Given the description of an element on the screen output the (x, y) to click on. 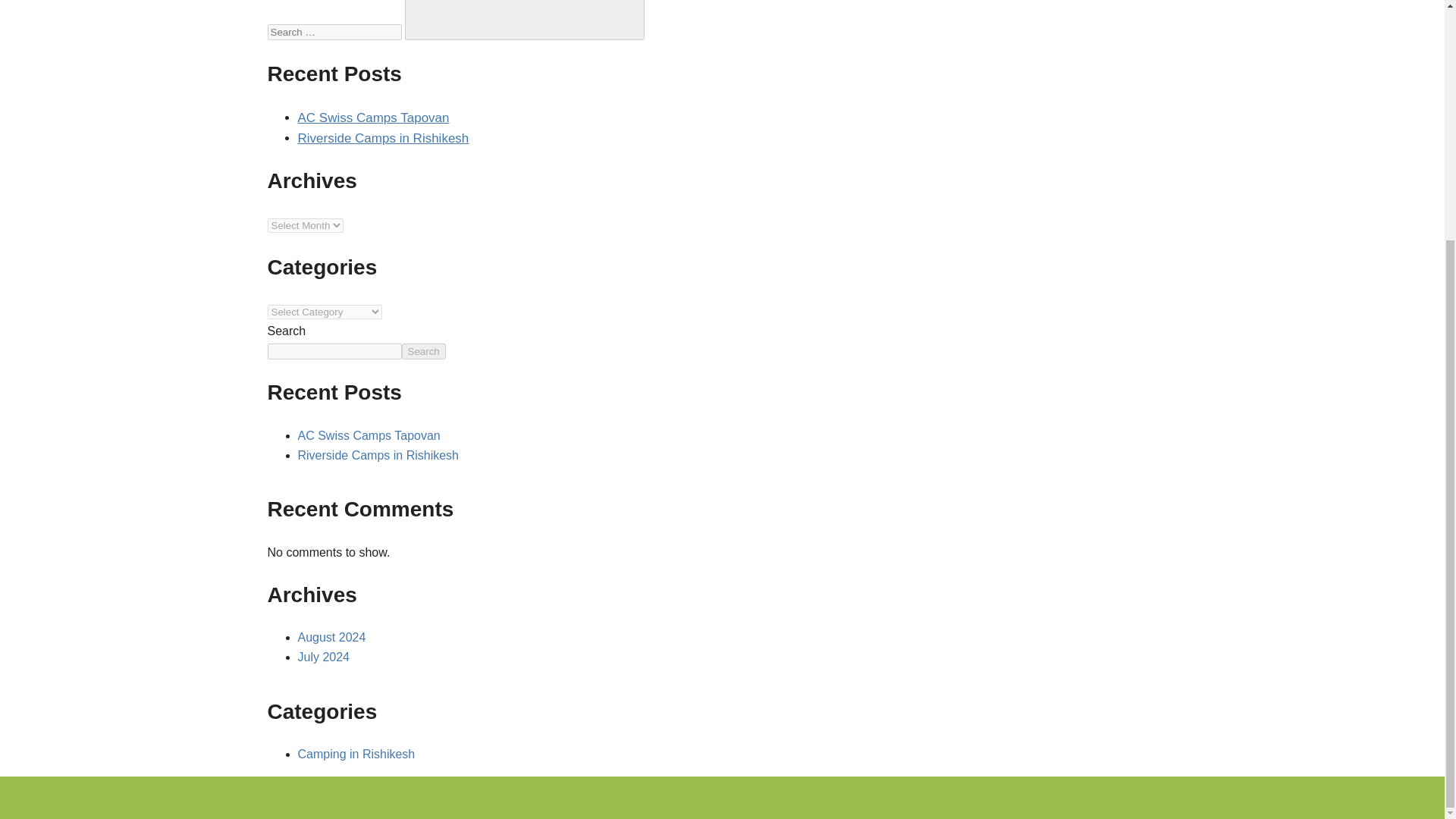
Search (524, 20)
August 2024 (331, 636)
Camping in Rishikesh (355, 753)
AC Swiss Camps Tapovan (372, 117)
July 2024 (323, 656)
Riverside Camps in Rishikesh (382, 138)
AC Swiss Camps Tapovan (368, 435)
Search (423, 351)
Search for: (333, 32)
Riverside Camps in Rishikesh (377, 454)
